Given the description of an element on the screen output the (x, y) to click on. 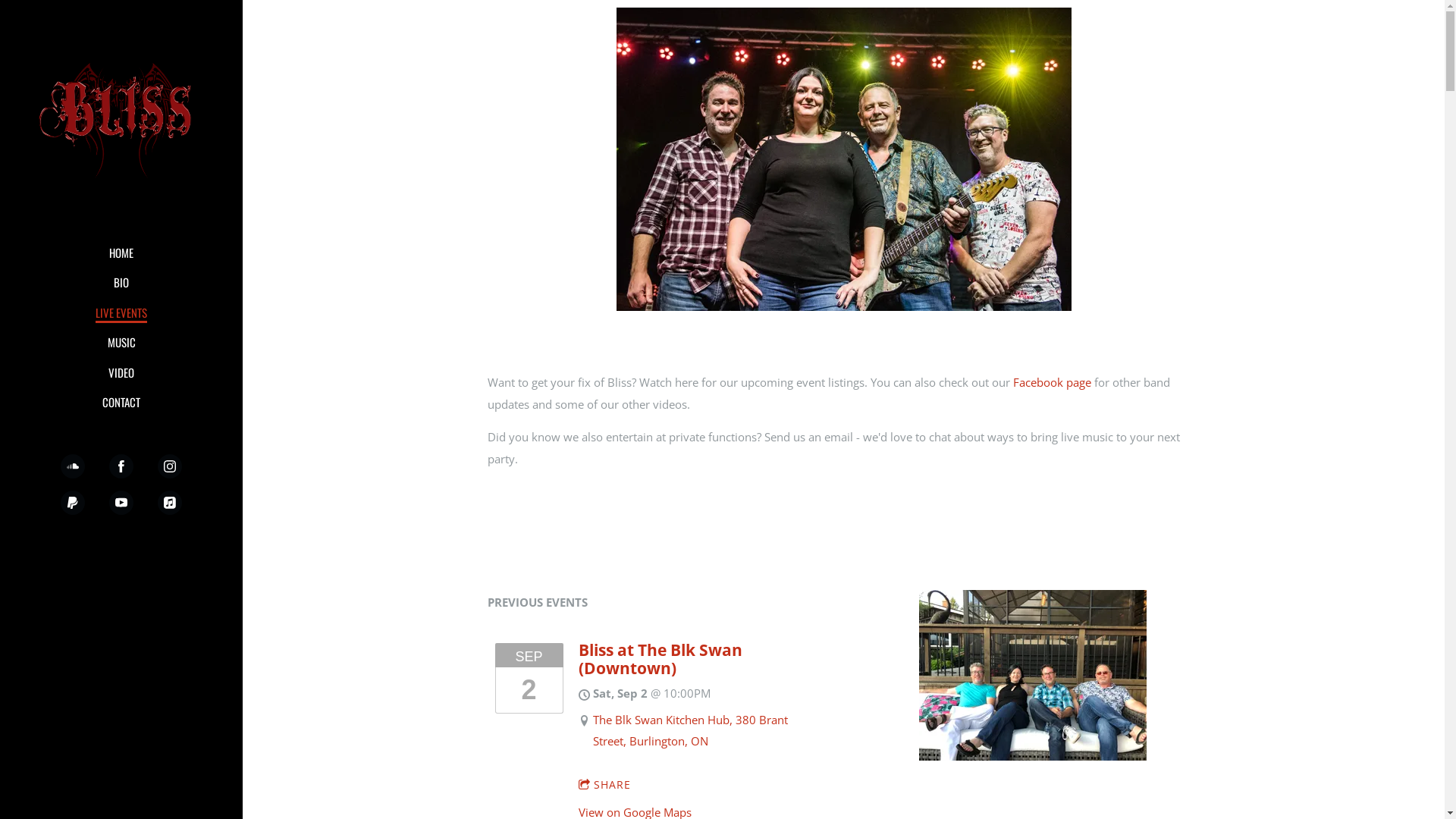
https://www.facebook.com/blissmusiclive Element type: hover (121, 466)
https://paypal.me/blisslivemusic Element type: hover (72, 502)
Facebook page Element type: text (1052, 381)
https://instagram.com/blisslivemusic Element type: hover (169, 466)
SHARE Element type: text (603, 784)
The Blk Swan Kitchen Hub, 380 Brant Street, Burlington, ON Element type: text (690, 730)
https://music.apple.com/ca/artist/bliss/1607864105 Element type: hover (169, 502)
VIDEO Element type: text (121, 372)
LIVE EVENTS Element type: text (121, 313)
Bliss at The Blk Swan (Downtown) Element type: text (659, 658)
MUSIC Element type: text (121, 342)
CONTACT Element type: text (121, 402)
HOME Element type: text (121, 253)
https://soundcloud.com/user-513347435 Element type: hover (72, 466)
BIO Element type: text (120, 282)
